Given the description of an element on the screen output the (x, y) to click on. 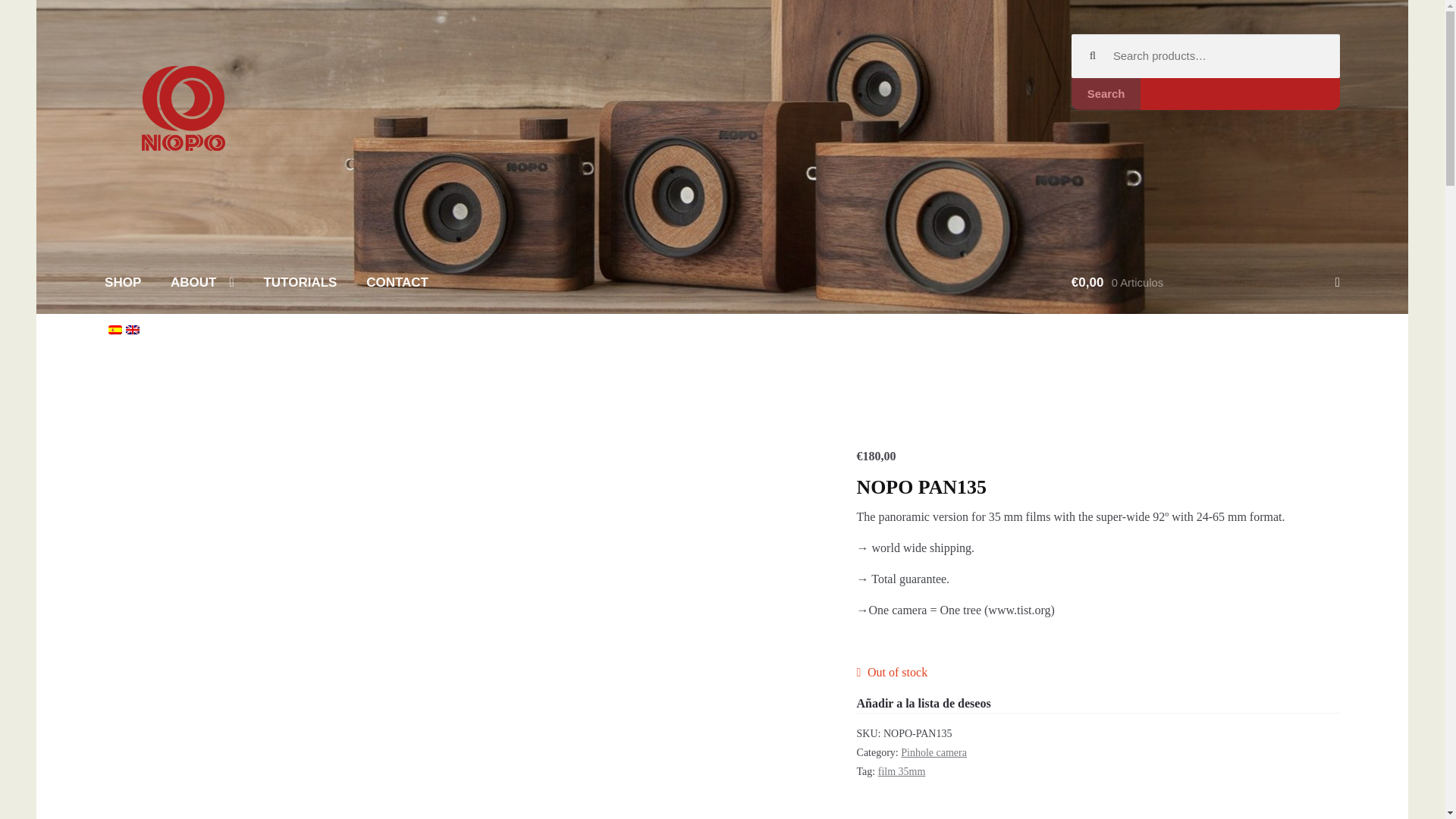
English (132, 329)
Ver carrito de la compra (1205, 281)
CONTACT (397, 281)
Search (1106, 93)
film 35mm (901, 771)
ABOUT (202, 281)
Pinhole camera (933, 752)
SHOP (122, 281)
Pinhole camera (186, 380)
